Given the description of an element on the screen output the (x, y) to click on. 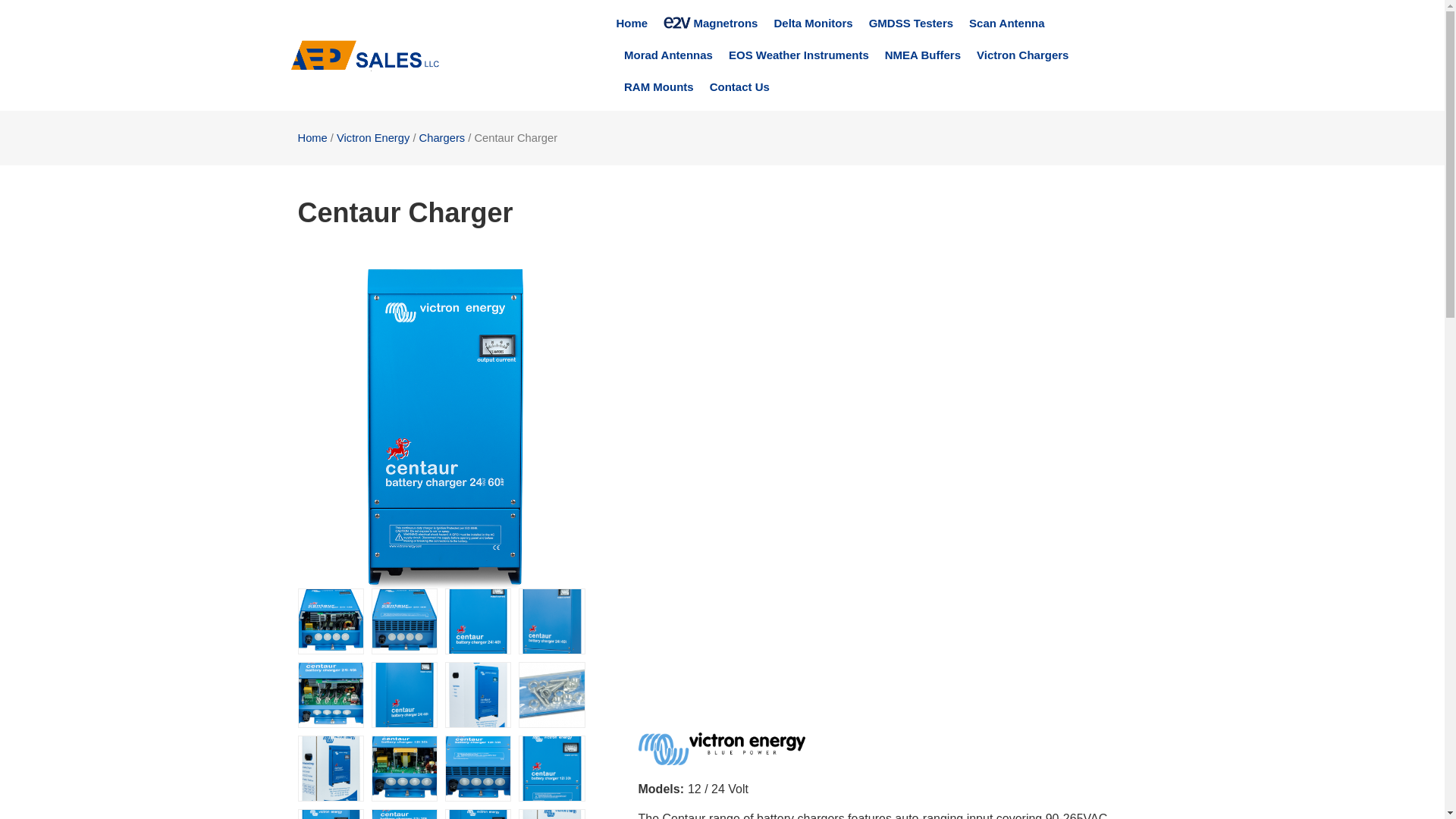
Delta Monitors (812, 23)
Contact Us (740, 87)
Scan Antenna (1006, 23)
NMEA Buffers (922, 55)
EOS Weather Instruments (799, 55)
RAM Mounts (659, 87)
Home (631, 23)
Victron Chargers (1022, 55)
Magnetrons (710, 23)
Morad Antennas (668, 55)
GMDSS Testers (911, 23)
